Given the description of an element on the screen output the (x, y) to click on. 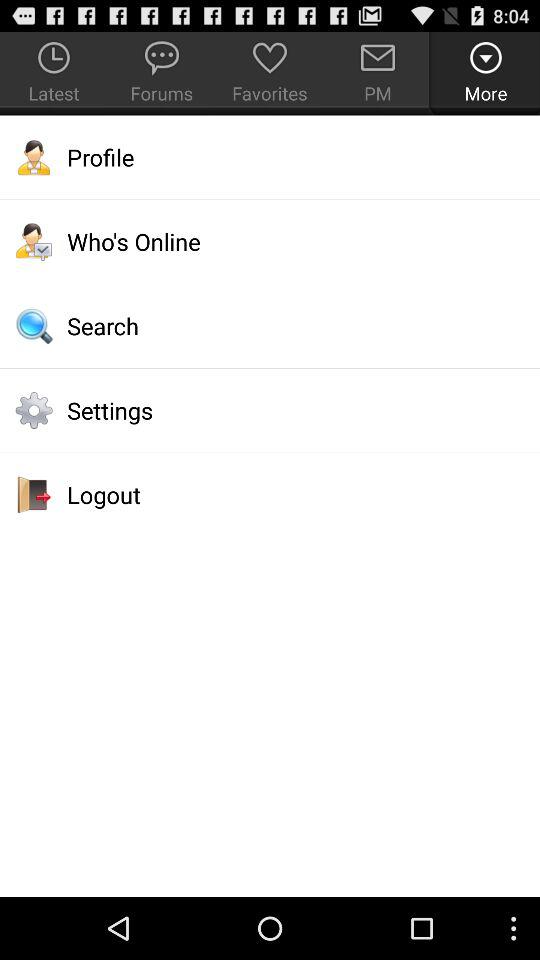
jump until the   search app (270, 326)
